Given the description of an element on the screen output the (x, y) to click on. 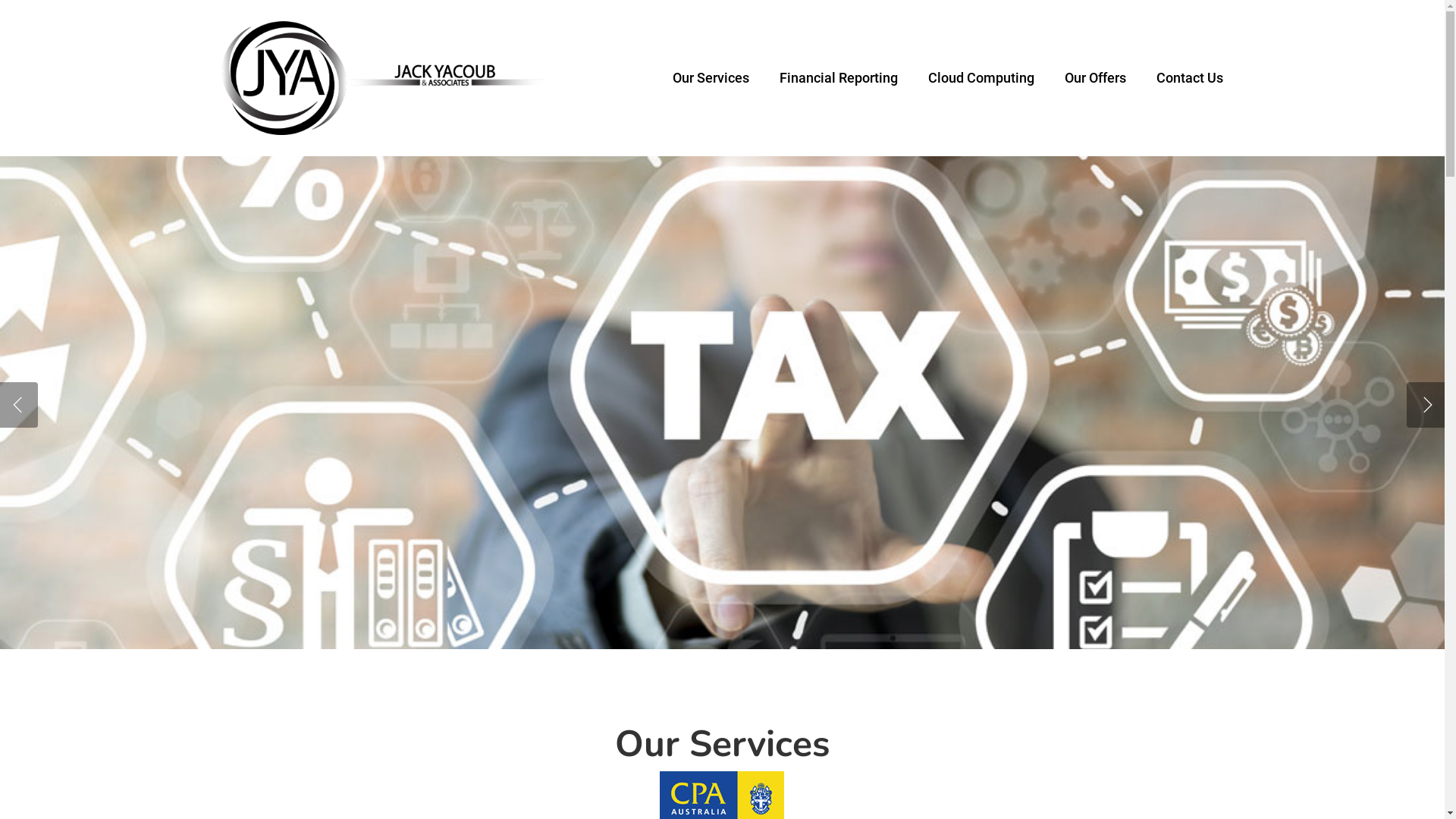
Financial Reporting Element type: text (838, 77)
Cloud Computing Element type: text (981, 77)
Our Services Element type: text (709, 77)
Our Offers Element type: text (1095, 77)
Contact Us Element type: text (1188, 77)
